Given the description of an element on the screen output the (x, y) to click on. 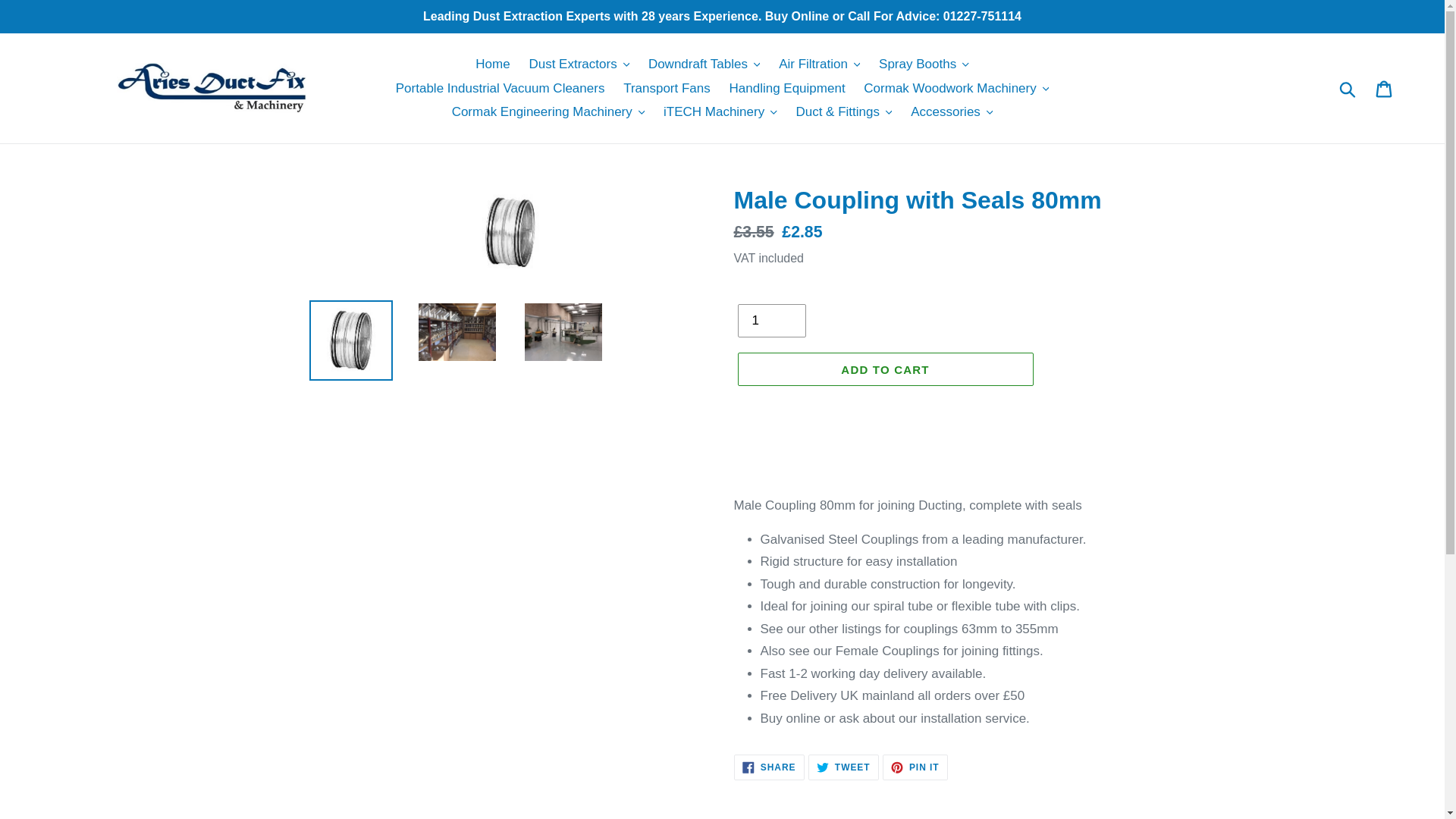
Home (491, 64)
Handling Equipment (787, 87)
Transport Fans (666, 87)
1 (770, 320)
Portable Industrial Vacuum Cleaners (500, 87)
